Given the description of an element on the screen output the (x, y) to click on. 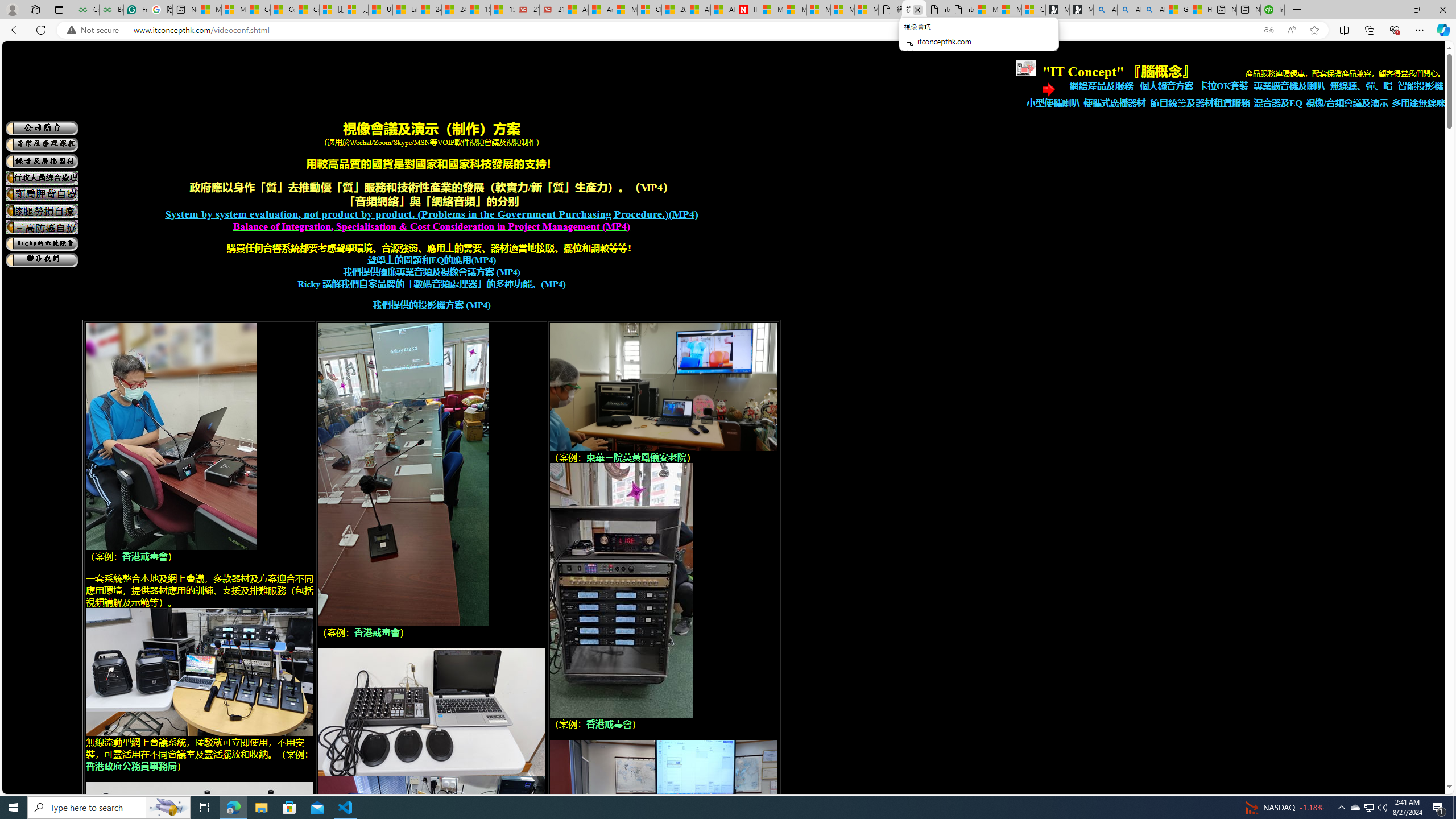
Not secure (95, 29)
Consumer Health Data Privacy Policy (1032, 9)
